Given the description of an element on the screen output the (x, y) to click on. 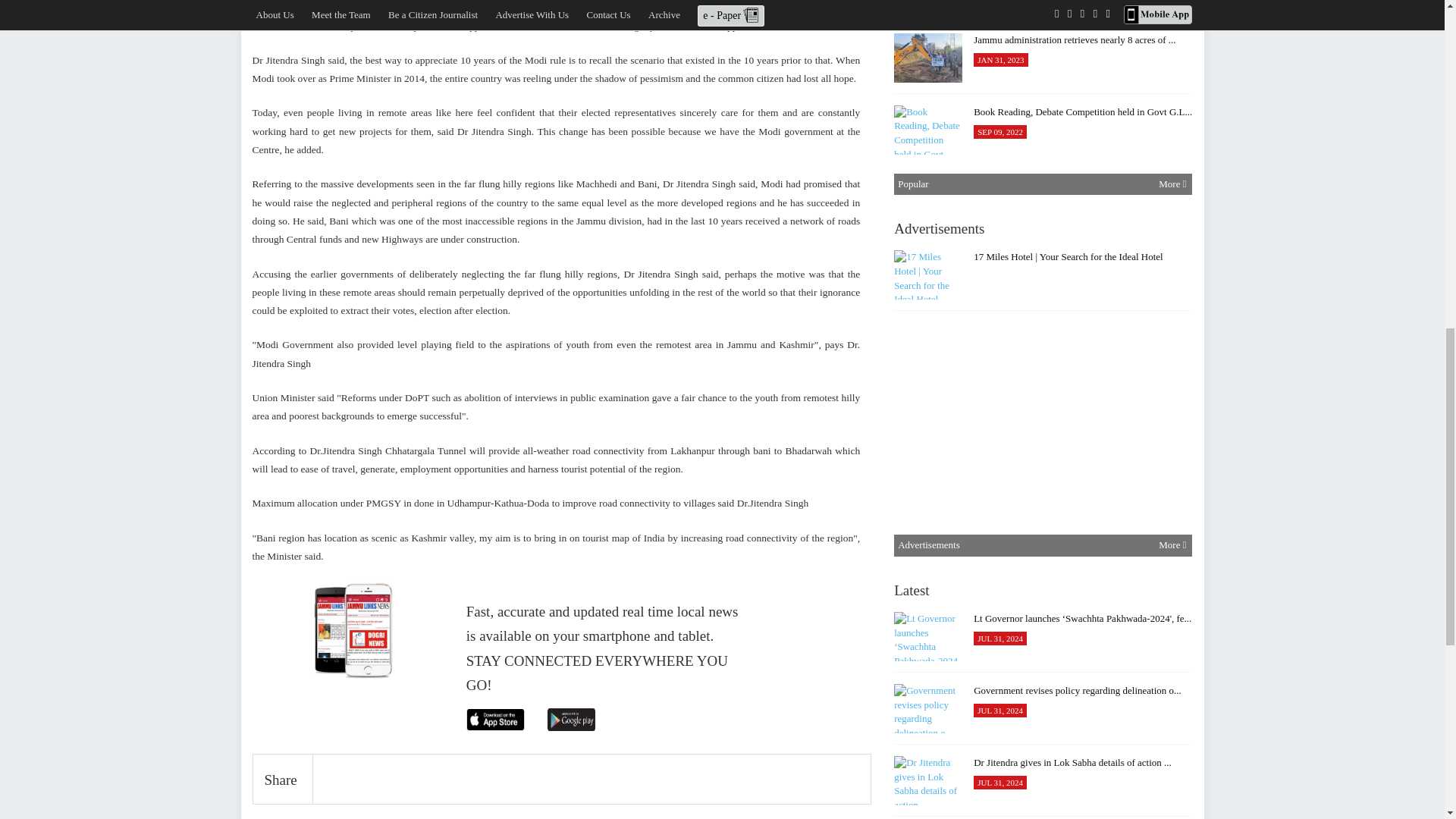
ISRO successfully tests Gaganyaan Low Altitude Es... (927, 273)
World Suicide Prevention Day 2022: GCW Udhampur h... (927, 5)
NDRF conducts mock earthquake, landslide exercise... (927, 490)
Digital planetarium show organised (927, 346)
Book Reading, Debate Competition held in Govt G.L... (927, 129)
Dr Jitendra gives in Lok Sabha details of action ... (927, 780)
Pakistan Terrorism - A game less understood (927, 201)
Government revises policy regarding delineation o... (927, 708)
Jammu administration retrieves nearly 8 acres of ... (927, 57)
Manipur: Opposition holds protest in Parliament p... (927, 562)
DPS hosts discussion-cum-sensitization session (927, 418)
